Given the description of an element on the screen output the (x, y) to click on. 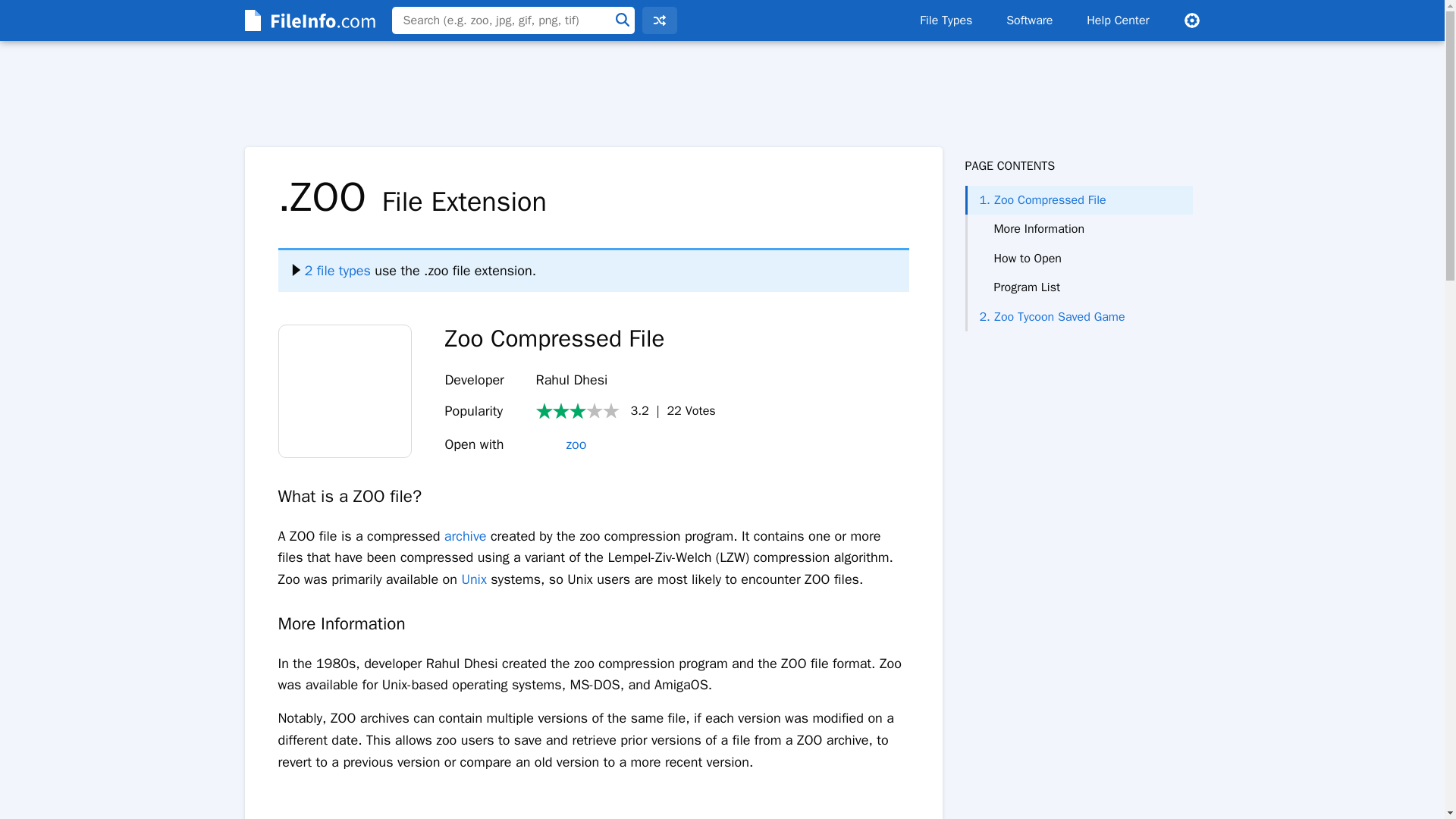
Help Center (1117, 20)
Search (621, 20)
FileInfo (307, 20)
2 file types (330, 270)
Unix (473, 579)
archive (465, 535)
zoo (560, 443)
Software (1029, 20)
ESTsoft ALZip 8 Icon (344, 390)
File Types (945, 20)
Settings (1190, 20)
Random (659, 20)
